Given the description of an element on the screen output the (x, y) to click on. 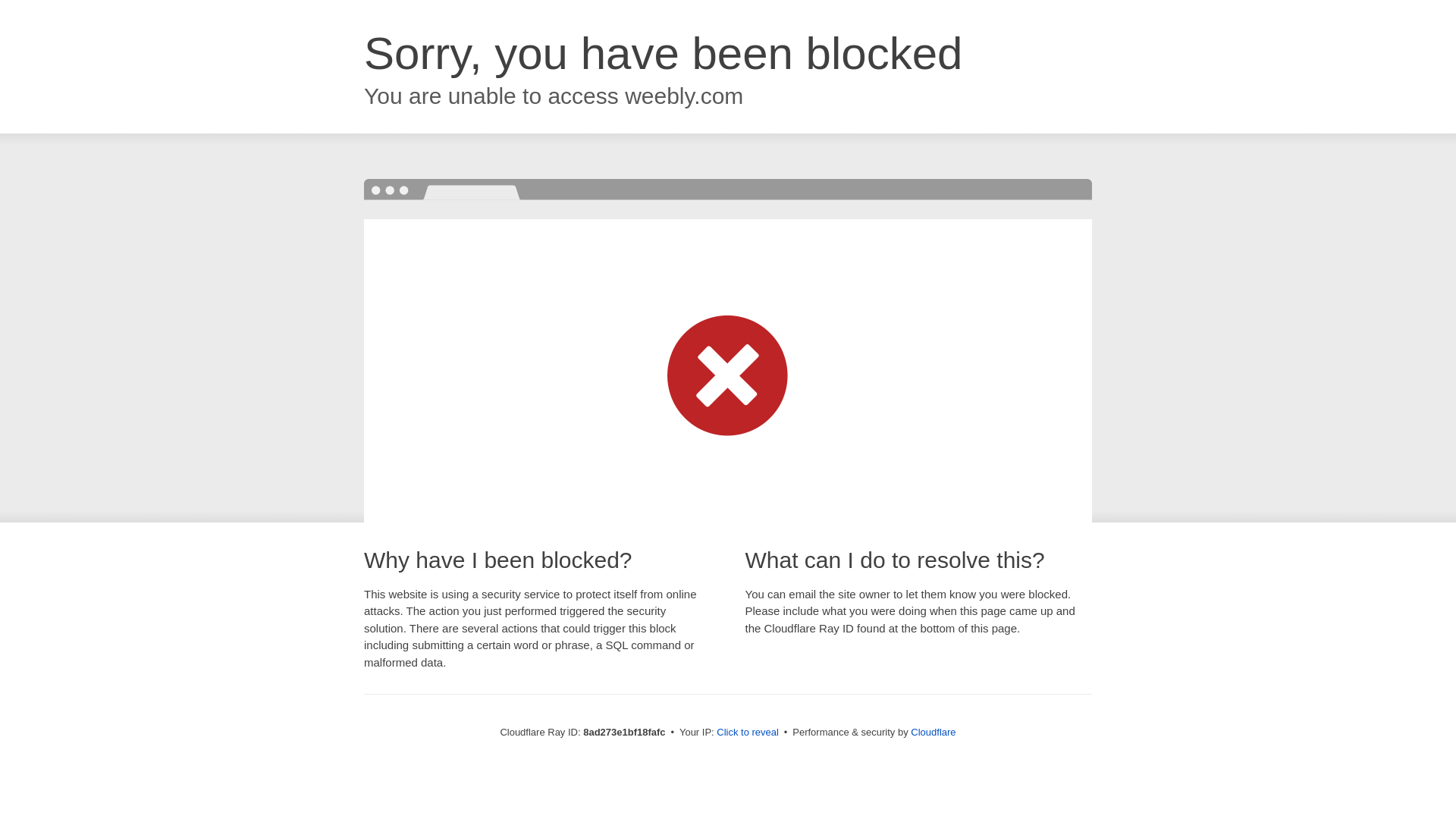
Click to reveal (747, 732)
Cloudflare (933, 731)
